Given the description of an element on the screen output the (x, y) to click on. 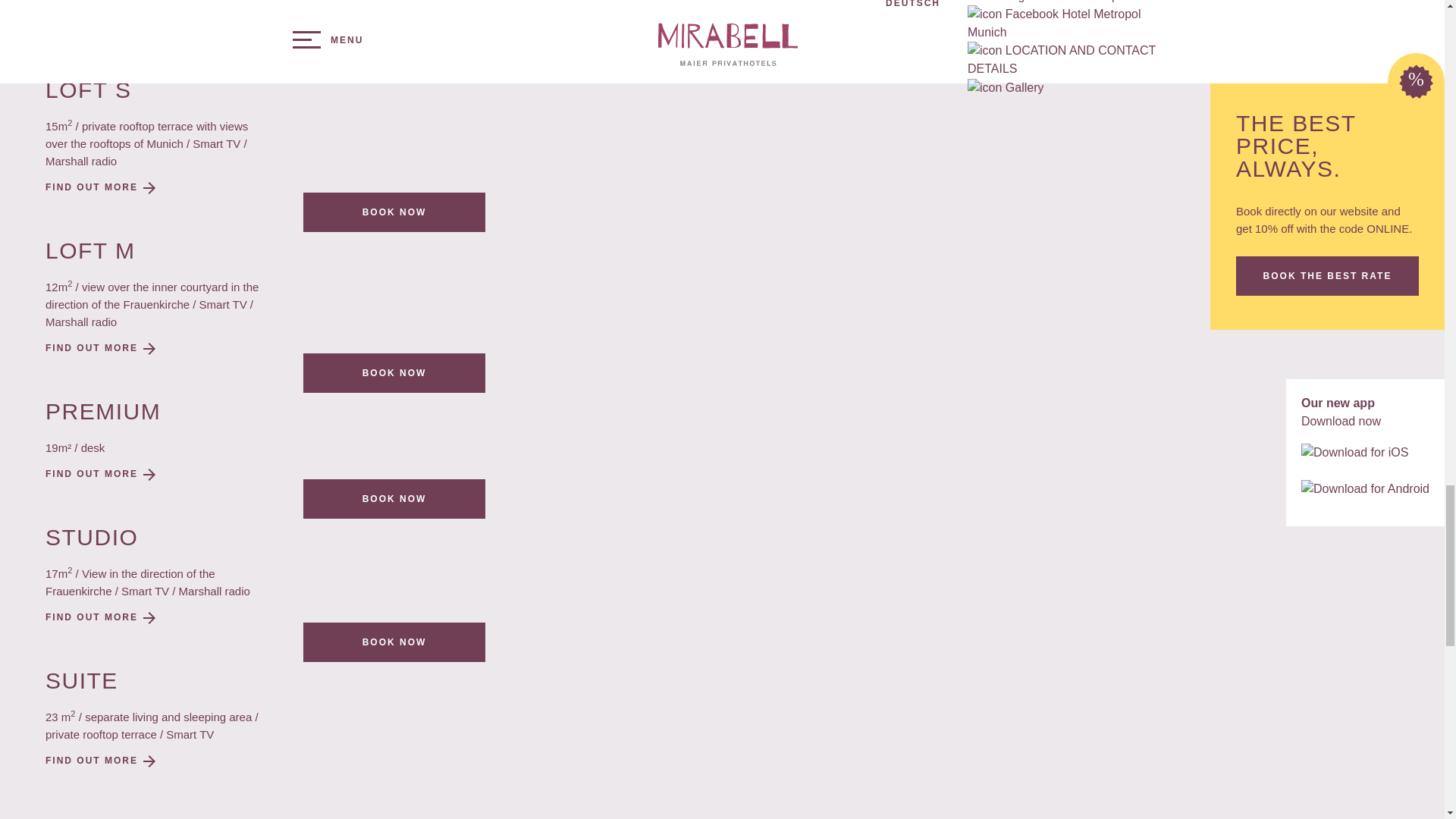
Book now (393, 211)
Book now (393, 641)
Book now (393, 51)
Book now (393, 372)
Book now (393, 498)
